Given the description of an element on the screen output the (x, y) to click on. 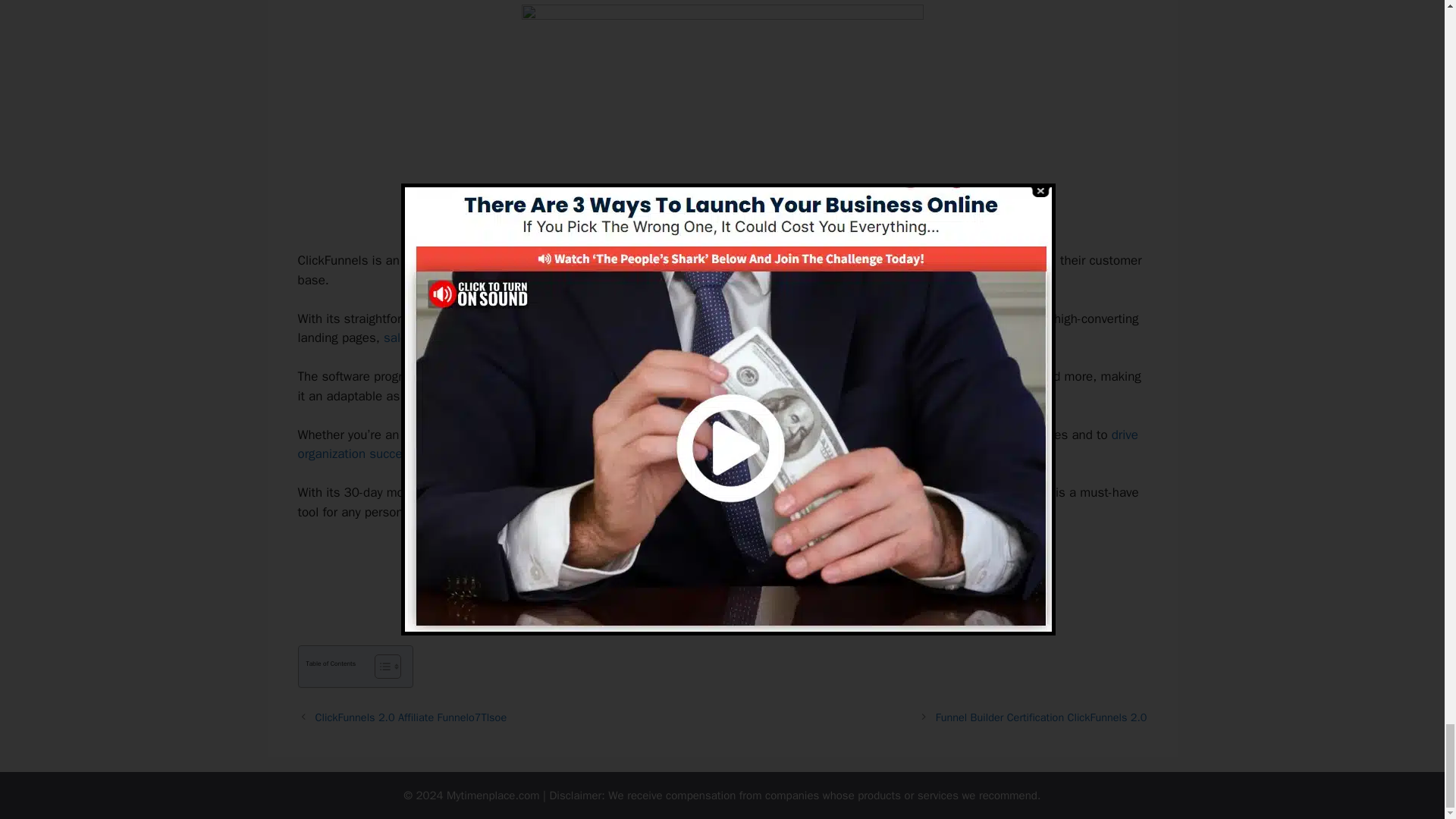
Try Out ClickFunnels For 14 Today (721, 564)
sales funnels (422, 337)
drive organization success (717, 444)
tool (749, 434)
